Given the description of an element on the screen output the (x, y) to click on. 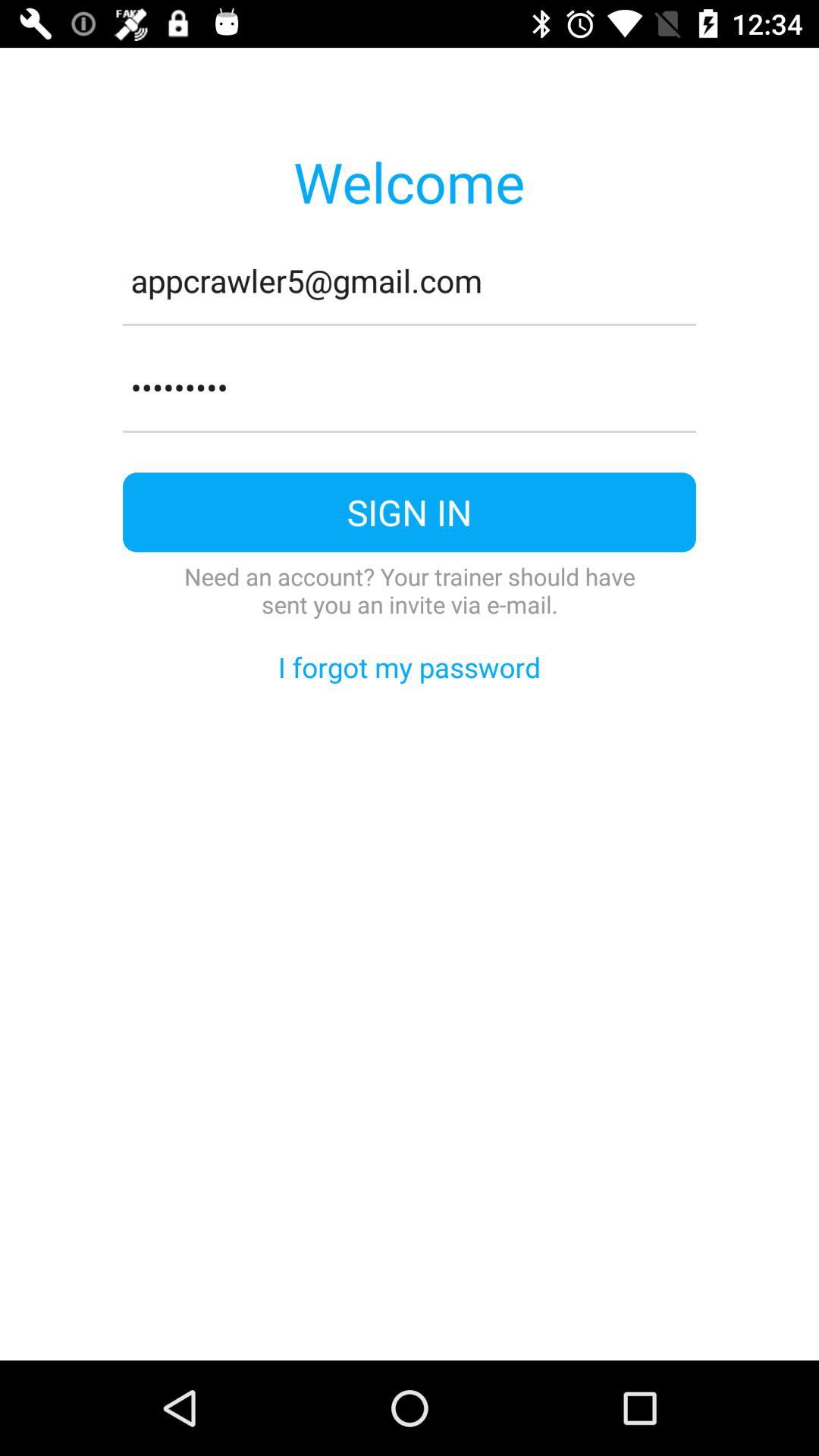
launch item below welcome item (409, 280)
